Given the description of an element on the screen output the (x, y) to click on. 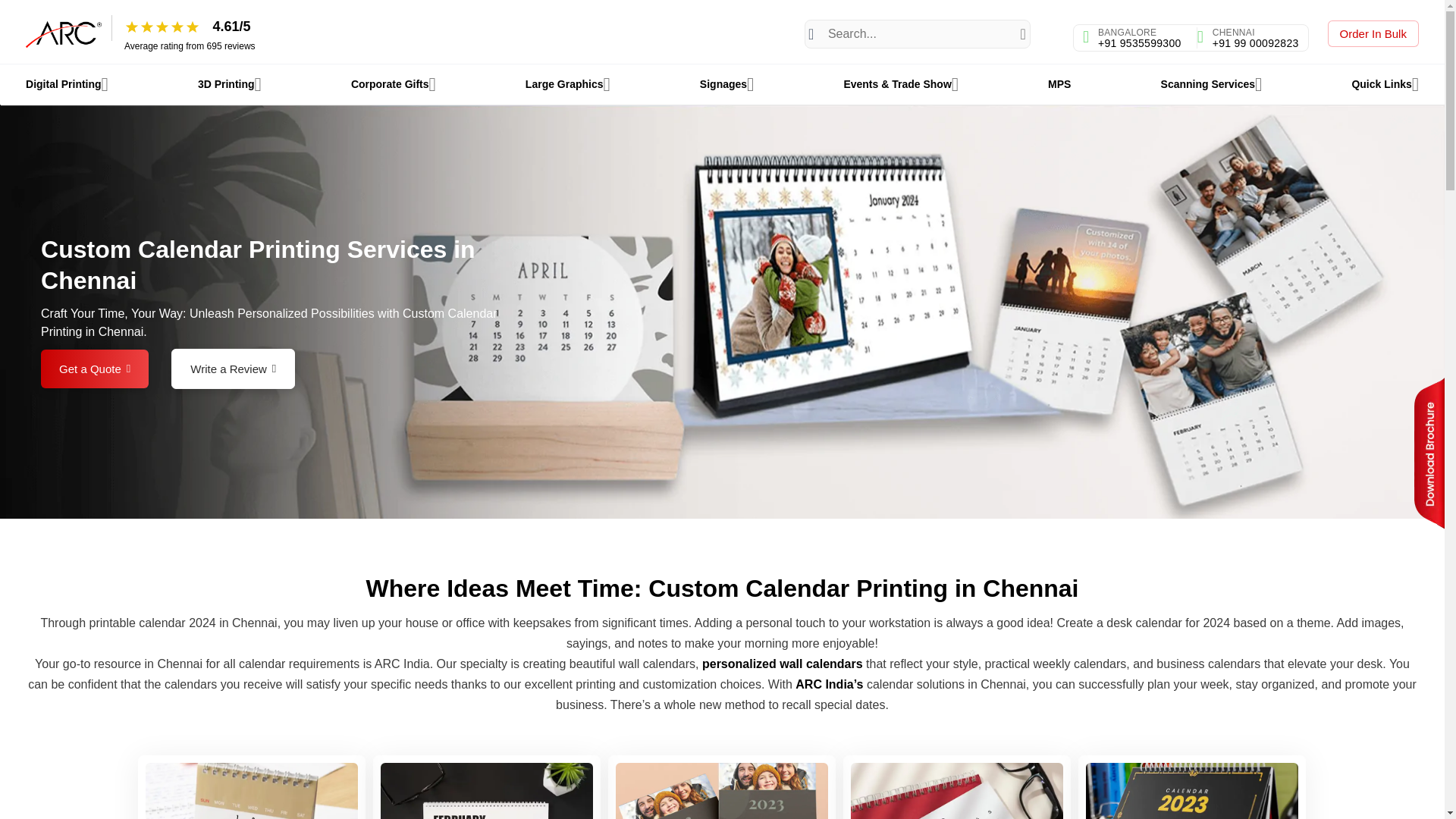
Corporate Gifts (392, 84)
Digital Printing (66, 84)
Order In Bulk (1372, 33)
3D Printing (230, 84)
